Given the description of an element on the screen output the (x, y) to click on. 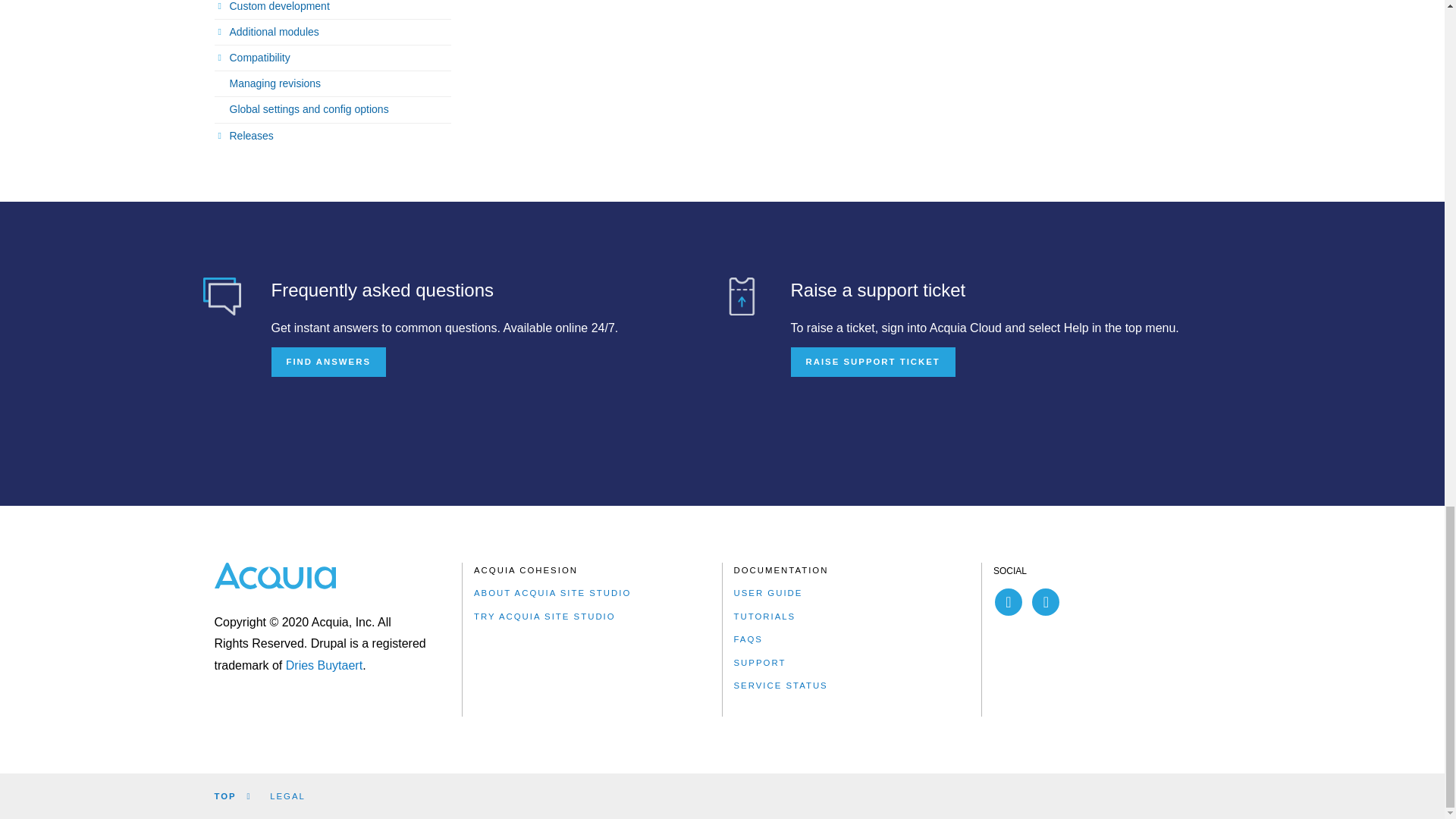
DX8 knowledge base (222, 296)
Documentation (780, 570)
Raise a ticket icon (741, 296)
TOP (232, 796)
Acquia Site Studio (526, 570)
About Site Studio (552, 593)
Raise a support ticket (872, 359)
Try Acquia Site Studio (544, 616)
